Given the description of an element on the screen output the (x, y) to click on. 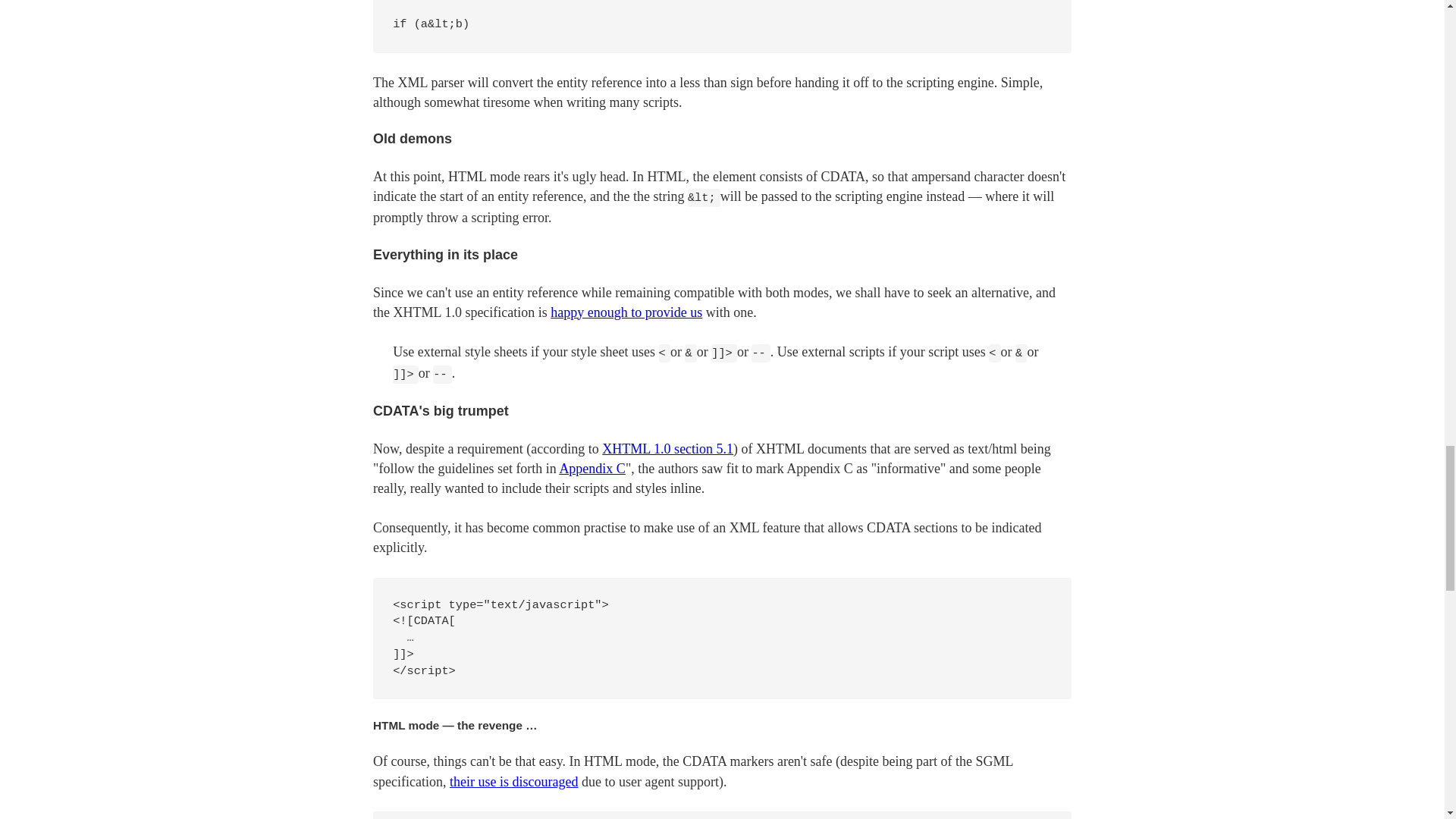
XHTML 1.0 section 5.1 (667, 448)
their use is discouraged (513, 781)
happy enough to provide us (625, 312)
Appendix C (592, 468)
